Given the description of an element on the screen output the (x, y) to click on. 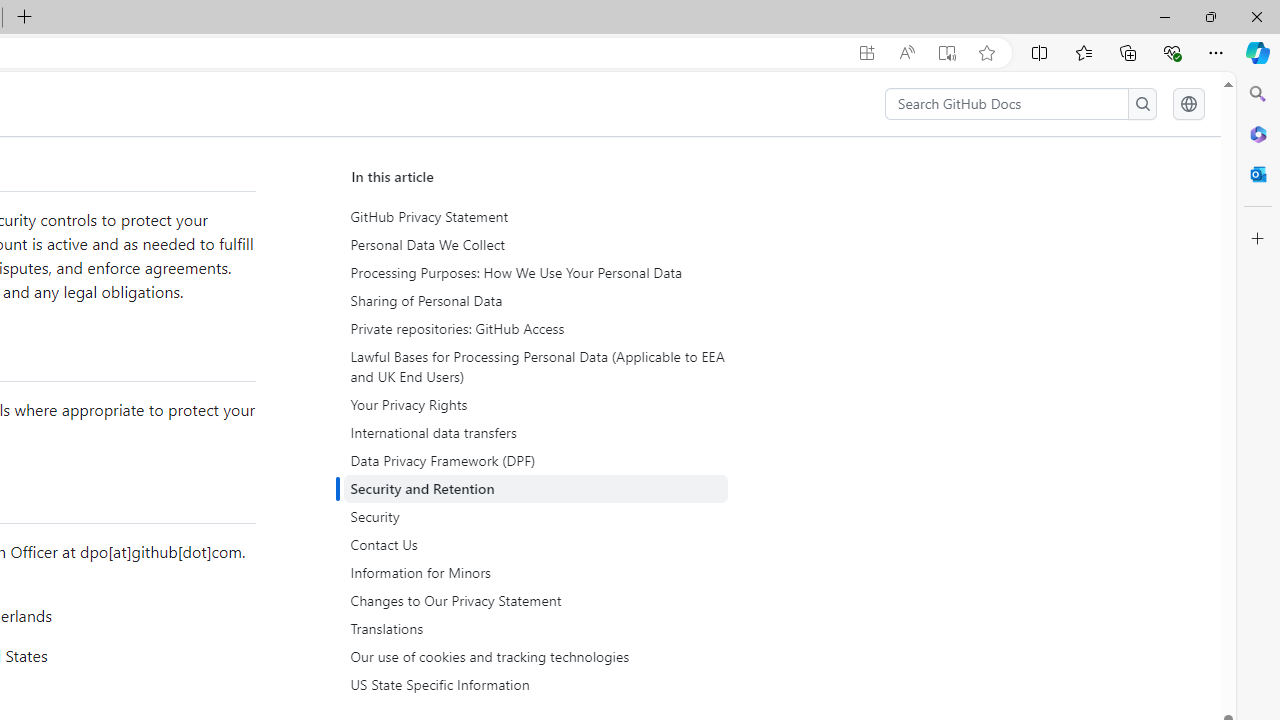
Processing Purposes: How We Use Your Personal Data (535, 273)
Security (538, 517)
Data Privacy Framework (DPF) (538, 461)
Information for Minors (535, 572)
Changes to Our Privacy Statement (538, 600)
